Given the description of an element on the screen output the (x, y) to click on. 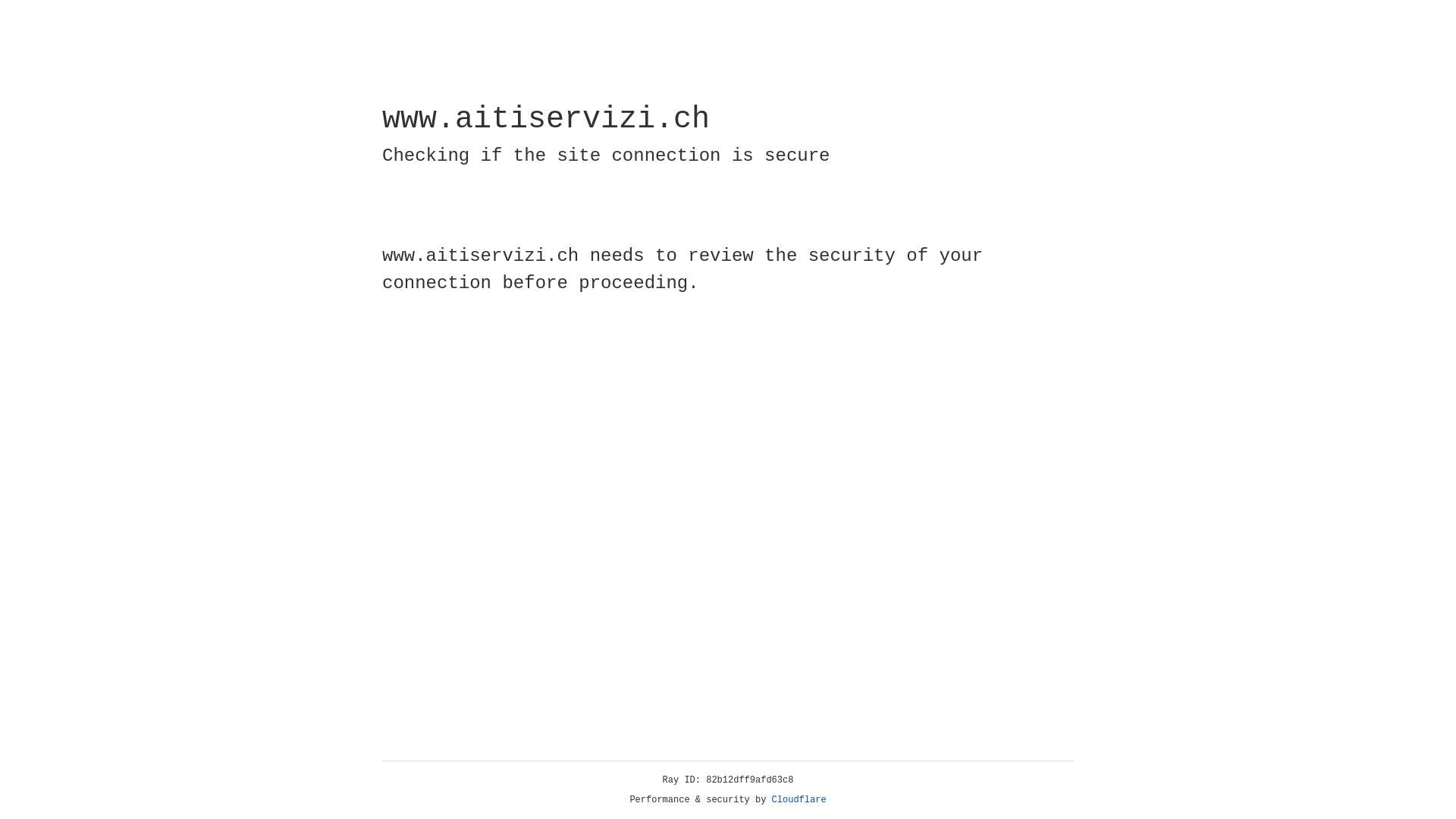
Cloudflare Element type: text (798, 799)
